Given the description of an element on the screen output the (x, y) to click on. 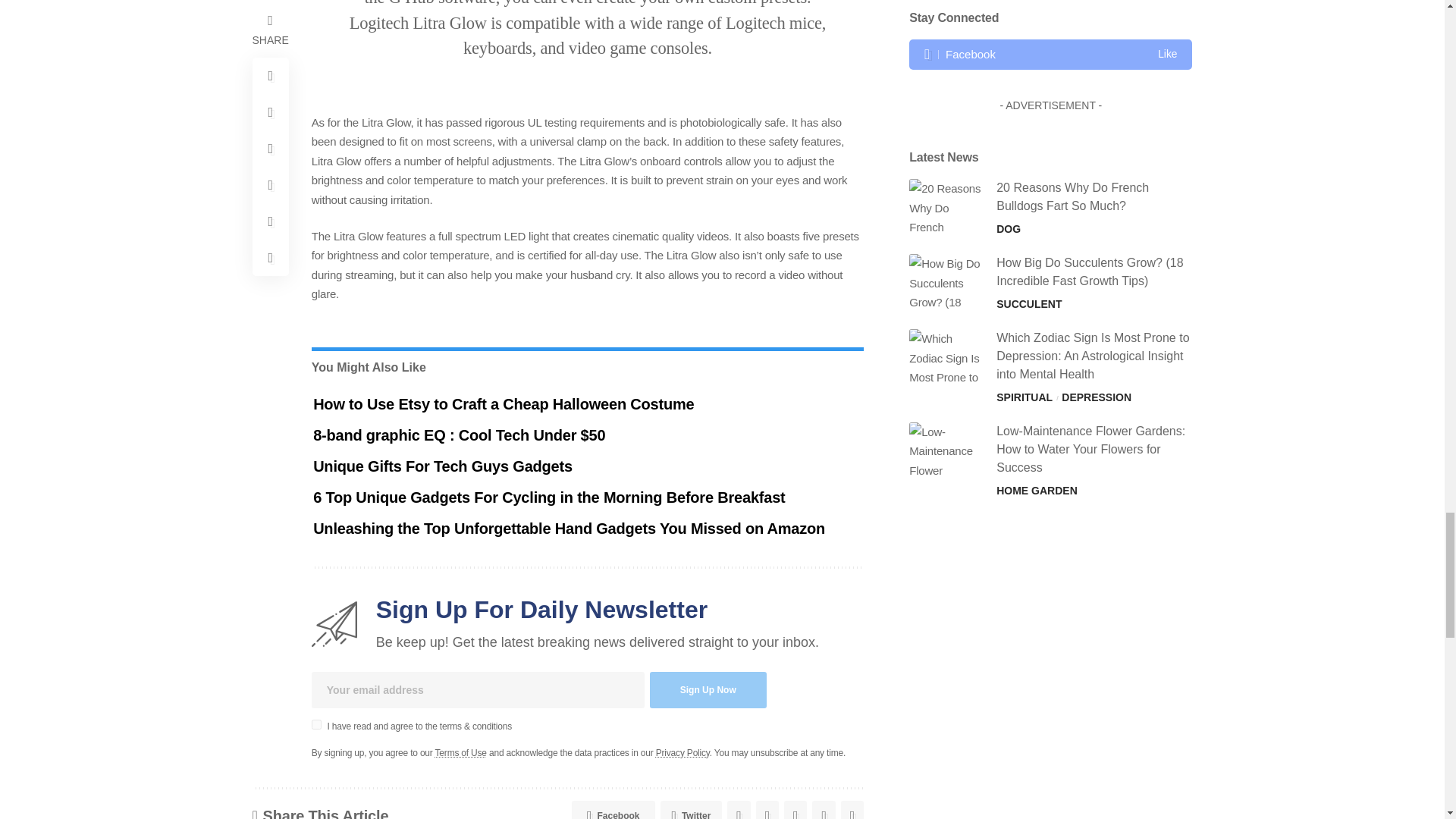
Sign Up Now (708, 689)
1 (316, 724)
